Given the description of an element on the screen output the (x, y) to click on. 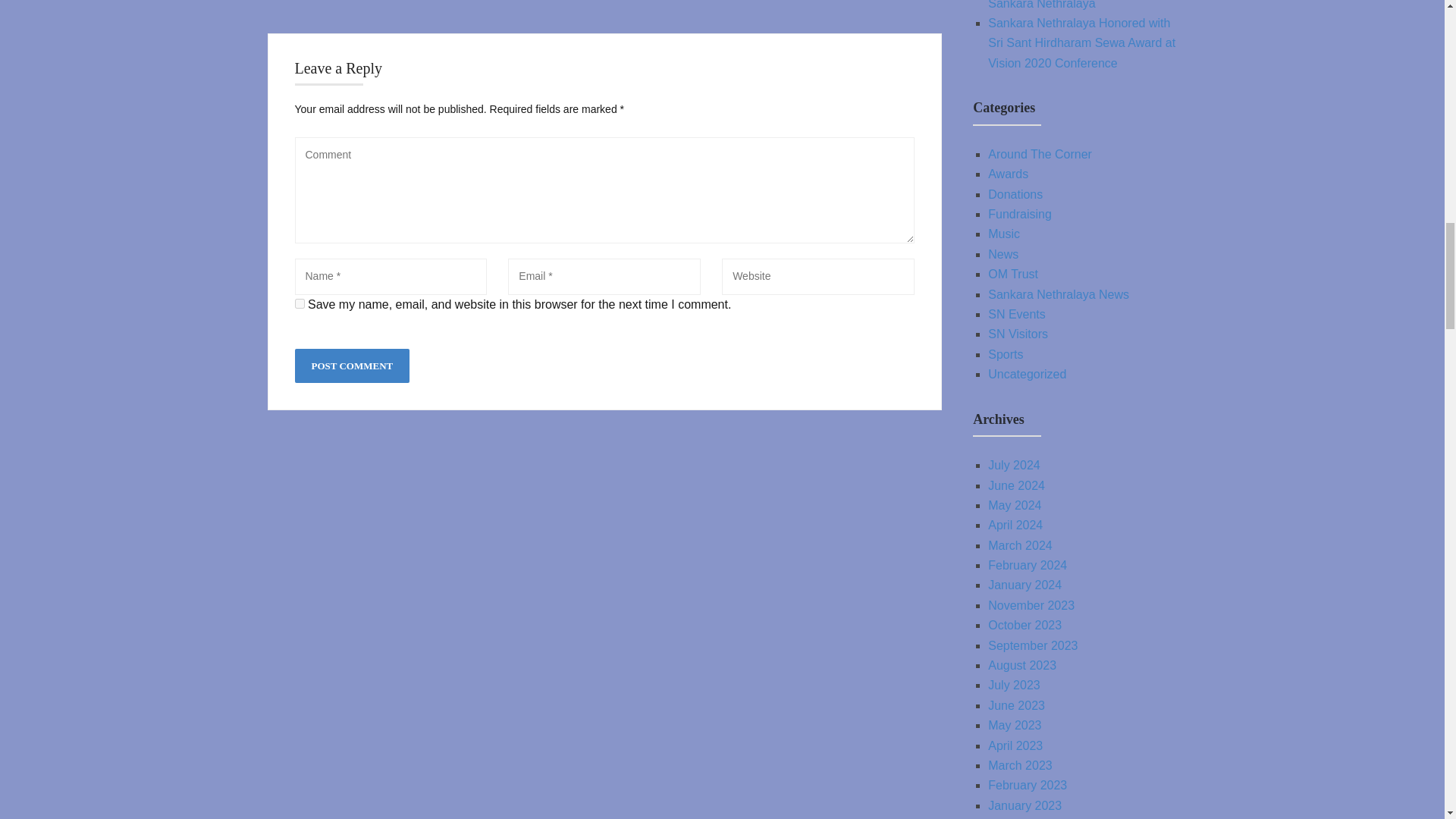
News (1002, 254)
Donations (1015, 194)
SN Visitors (1018, 333)
Around The Corner (1040, 154)
Fundraising (1019, 214)
Post Comment (351, 365)
yes (299, 303)
Awards (1007, 173)
Sports (1005, 354)
OM Trust (1013, 273)
Post Comment (351, 365)
Sankara Nethralaya News (1058, 294)
Music (1004, 233)
SN Events (1016, 314)
